Given the description of an element on the screen output the (x, y) to click on. 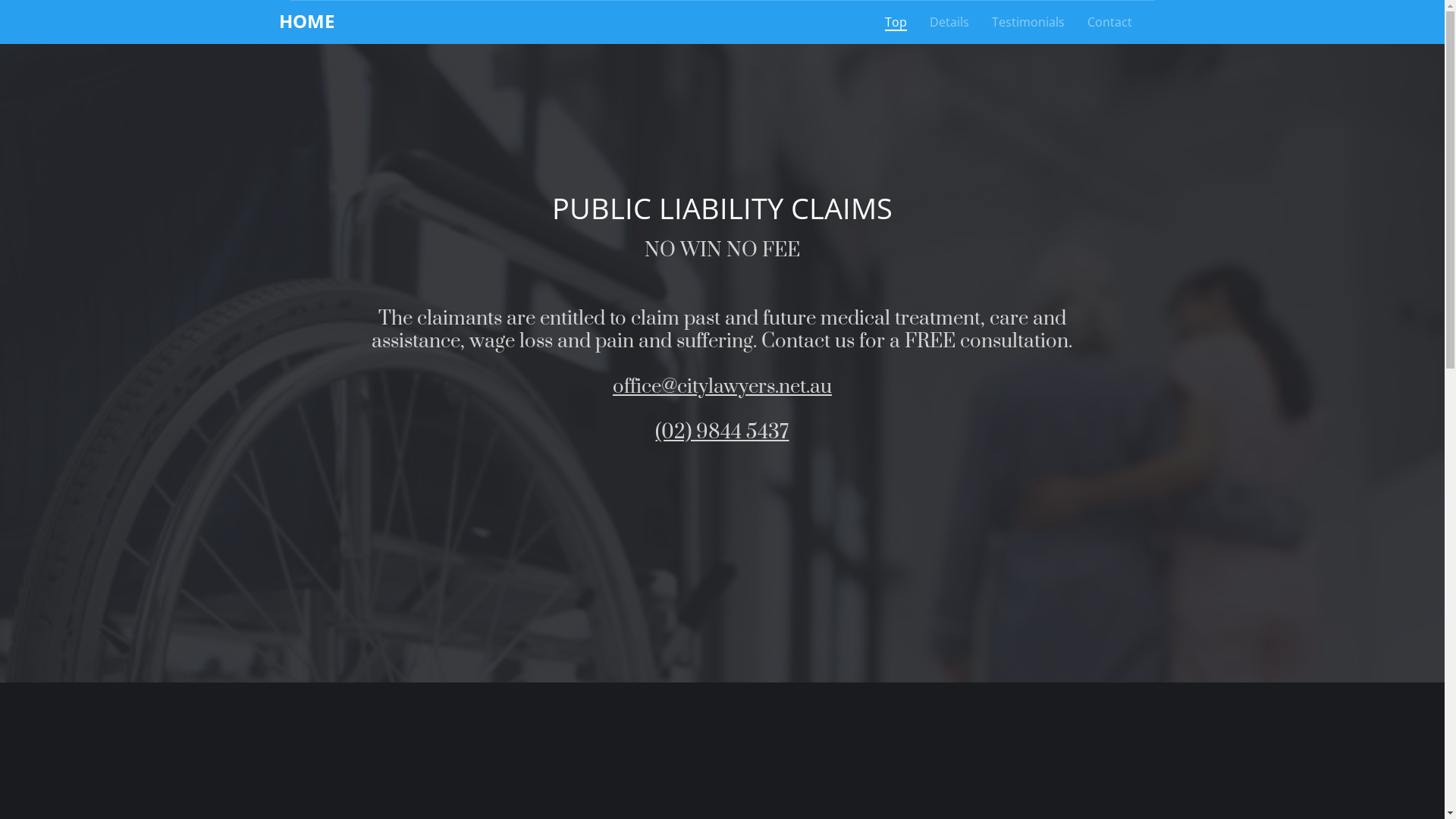
Testimonials Element type: text (1027, 21)
Details Element type: text (948, 21)
(02) 9844 5437 Element type: text (721, 432)
office@citylawyers.net.au Element type: text (721, 386)
Top Element type: text (895, 21)
Contact Element type: text (1108, 21)
HOME Element type: text (312, 20)
